Given the description of an element on the screen output the (x, y) to click on. 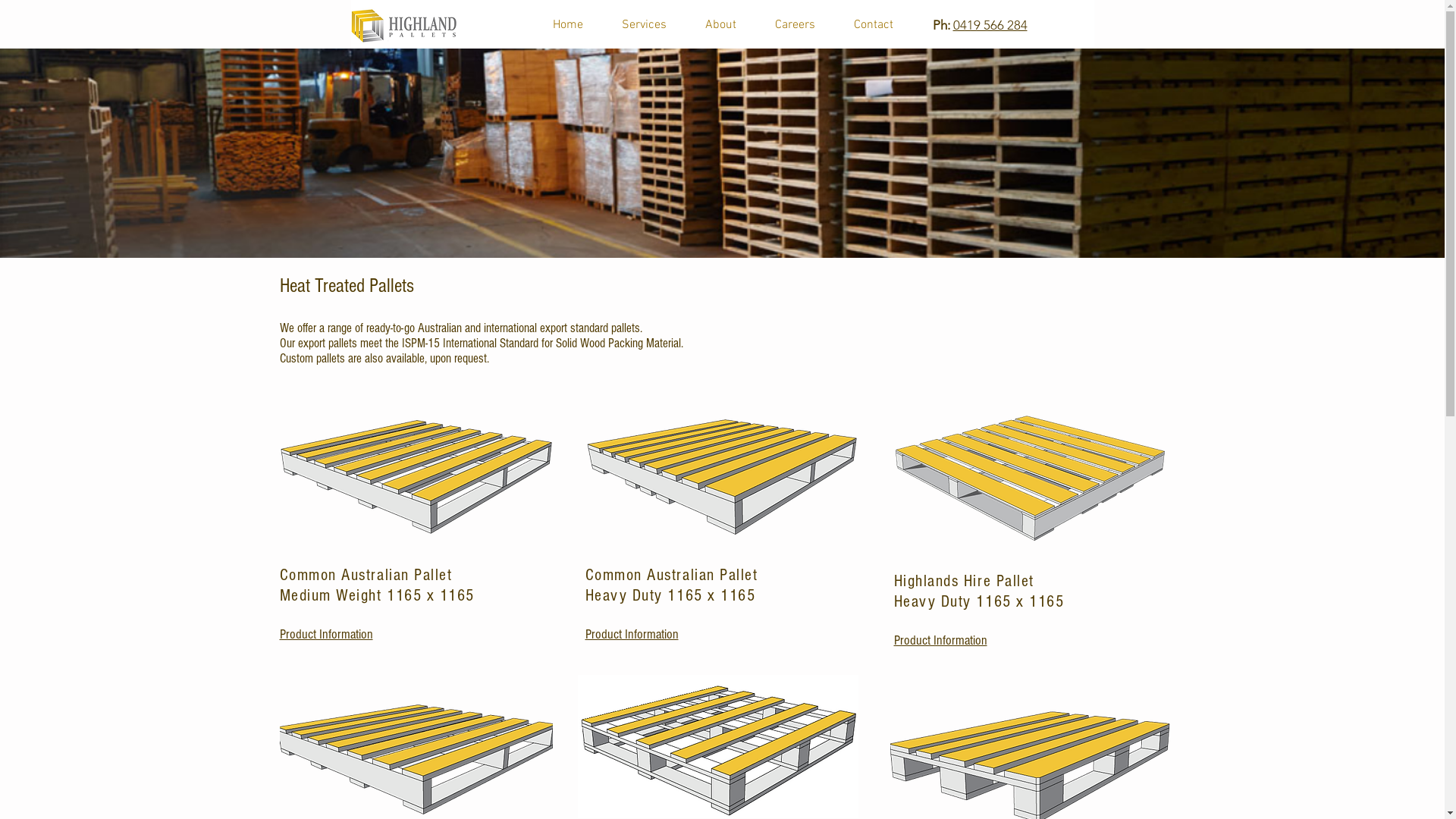
Product Information Element type: text (939, 640)
Services Element type: text (643, 25)
Contact Element type: text (872, 25)
Careers Element type: text (794, 25)
0419 566 284 Element type: text (989, 24)
Product Information Element type: text (325, 634)
Home Element type: text (567, 25)
About Element type: text (720, 25)
Product Information Element type: text (631, 634)
